Given the description of an element on the screen output the (x, y) to click on. 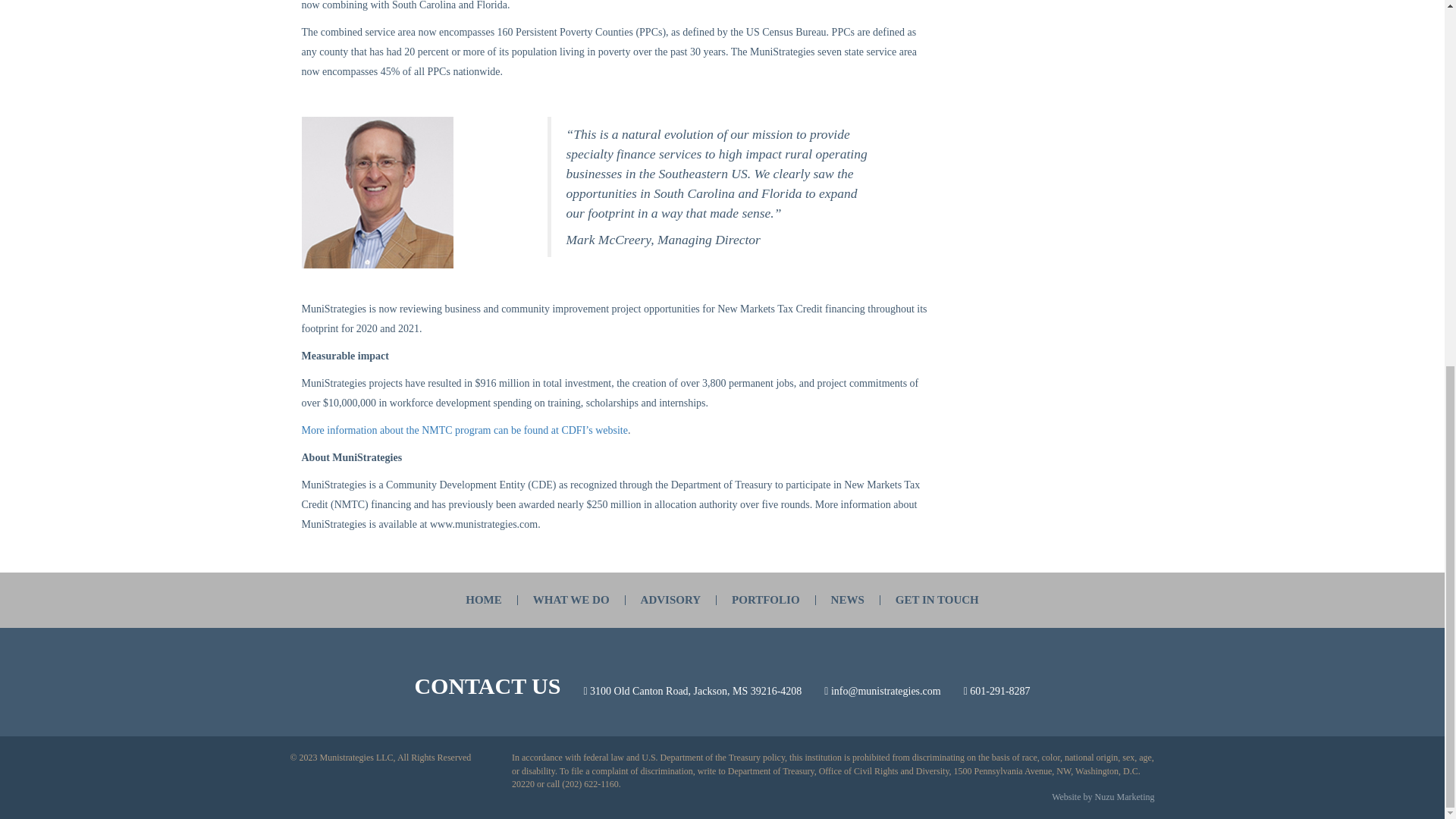
601-291-8287 (999, 690)
NEWS (847, 599)
HOME (483, 599)
WHAT WE DO (571, 599)
Website by Nuzu Marketing (1102, 796)
GET IN TOUCH (936, 599)
3100 Old Canton Road, Jackson, MS 39216-4208 (695, 690)
PORTFOLIO (765, 599)
ADVISORY (670, 599)
